Given the description of an element on the screen output the (x, y) to click on. 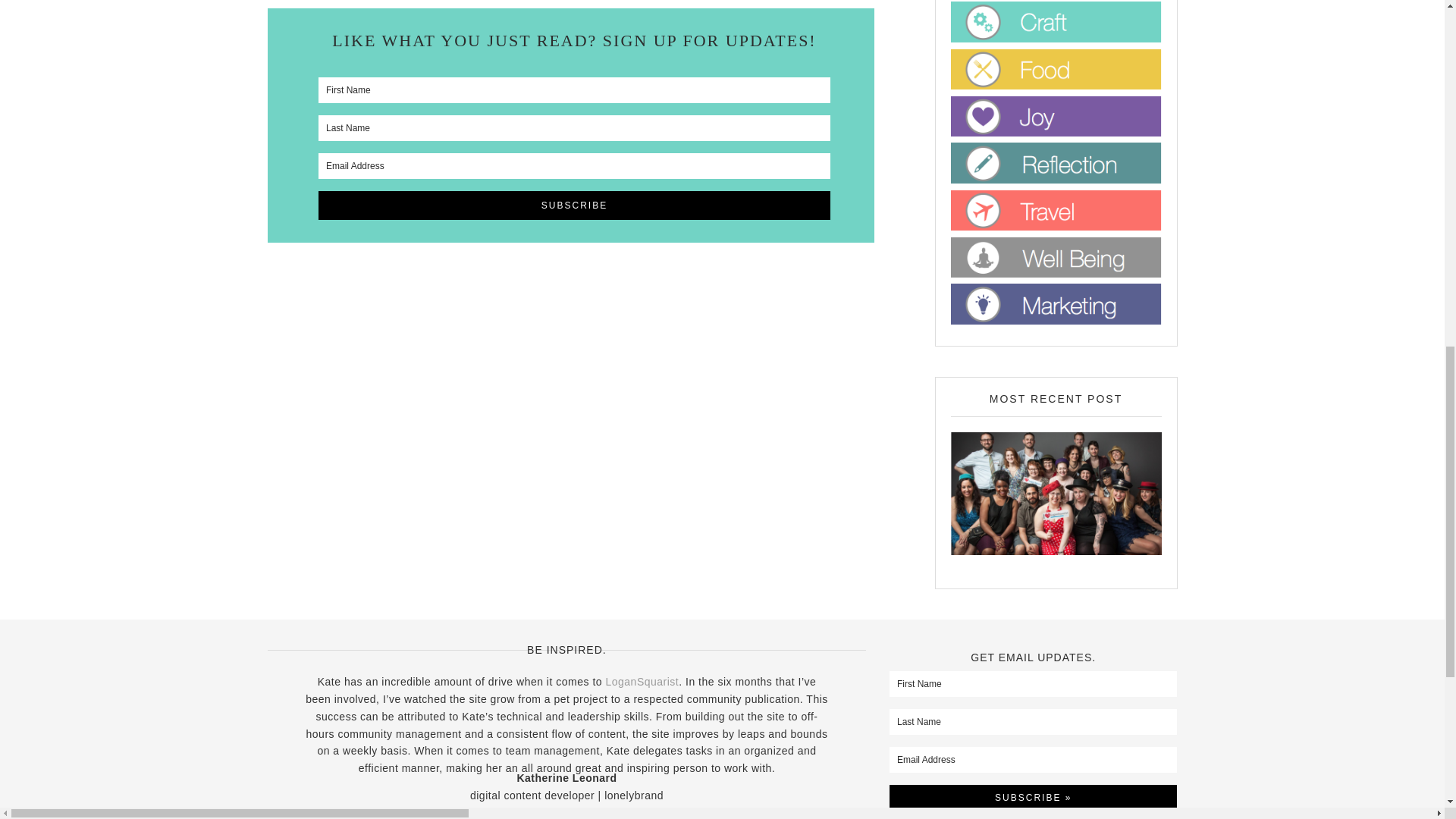
One Way to Keep Local Journalism Alive (1055, 493)
Subscribe (573, 205)
Subscribe (573, 205)
